Given the description of an element on the screen output the (x, y) to click on. 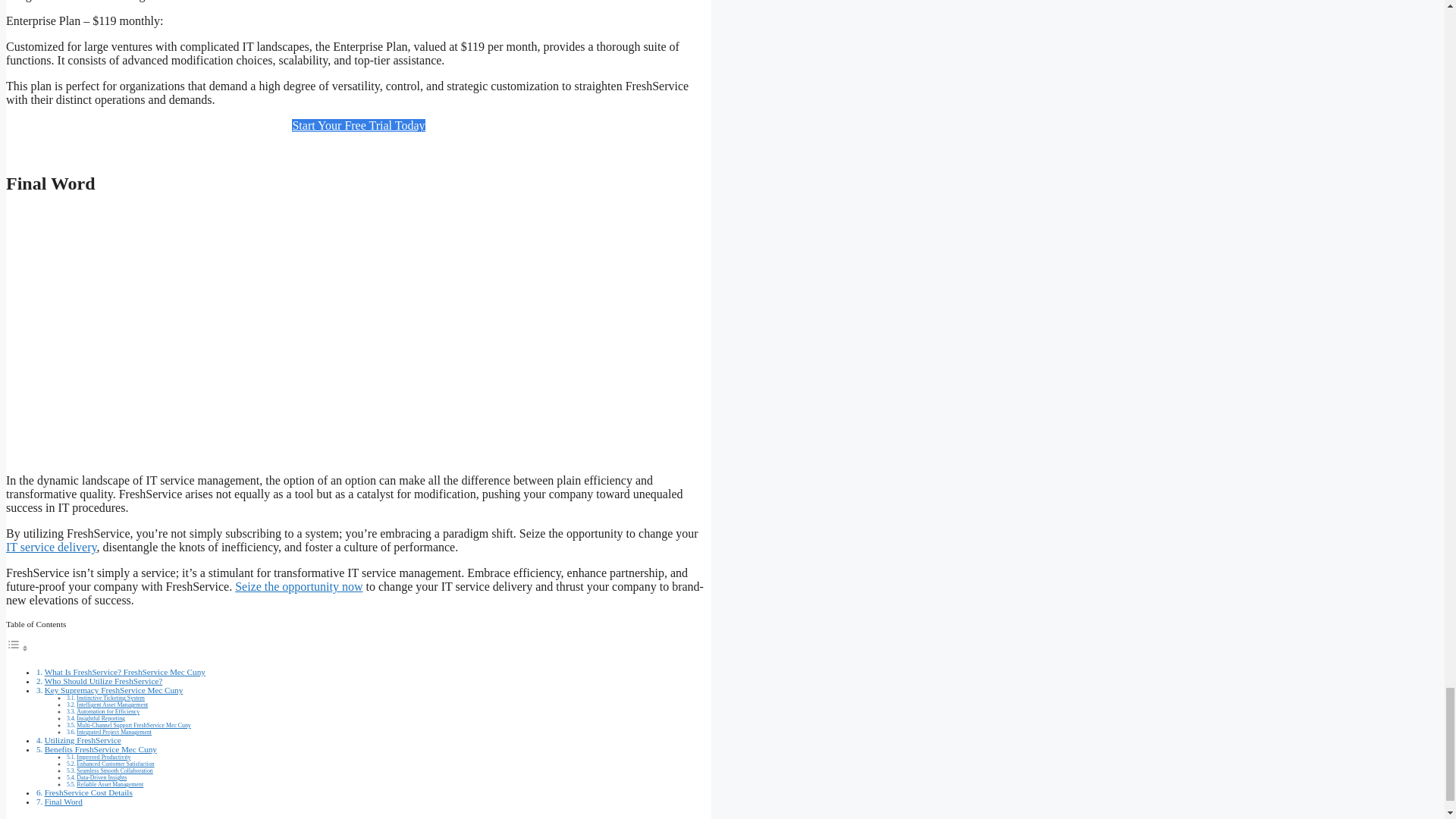
Instinctive Ticketing System (110, 697)
Automation for Efficiency (108, 711)
Automation for Efficiency (108, 711)
Insightful Reporting (101, 717)
Utilizing FreshService (82, 739)
Improved Productivity (104, 756)
FreshService Cost Details (88, 791)
What Is FreshService? FreshService Mec Cuny (125, 671)
Who Should Utilize FreshService? (104, 680)
Reliable Asset Management (109, 784)
Multi-Channel Support FreshService Mec Cuny (133, 724)
What Is FreshService? FreshService Mec Cuny (125, 671)
Improved Productivity (104, 756)
Start Your Free Trial Today (358, 124)
Key Supremacy FreshService Mec Cuny (114, 689)
